Given the description of an element on the screen output the (x, y) to click on. 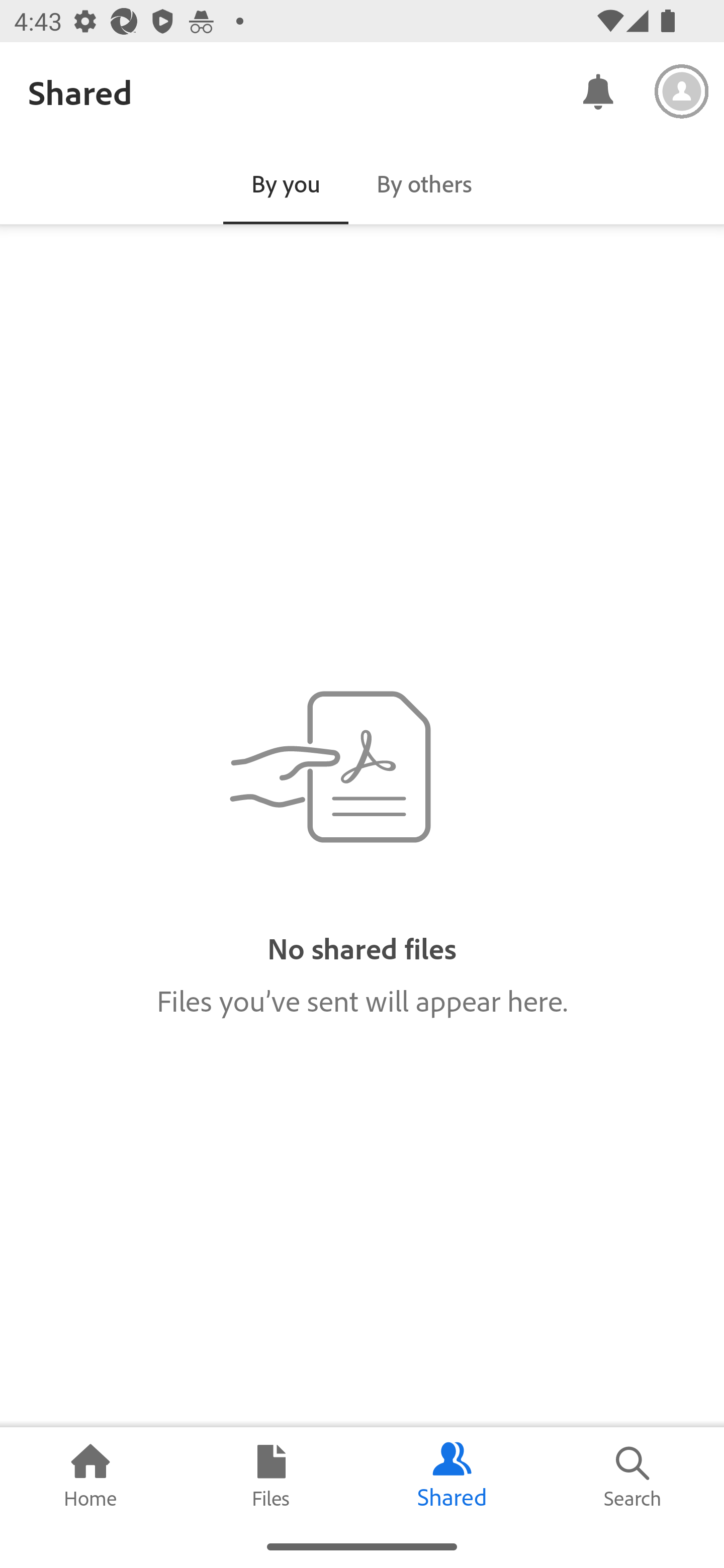
Notifications (597, 90)
Settings (681, 91)
By you (285, 183)
By others (424, 183)
Home (90, 1475)
Files (271, 1475)
Shared (452, 1475)
Search (633, 1475)
